Given the description of an element on the screen output the (x, y) to click on. 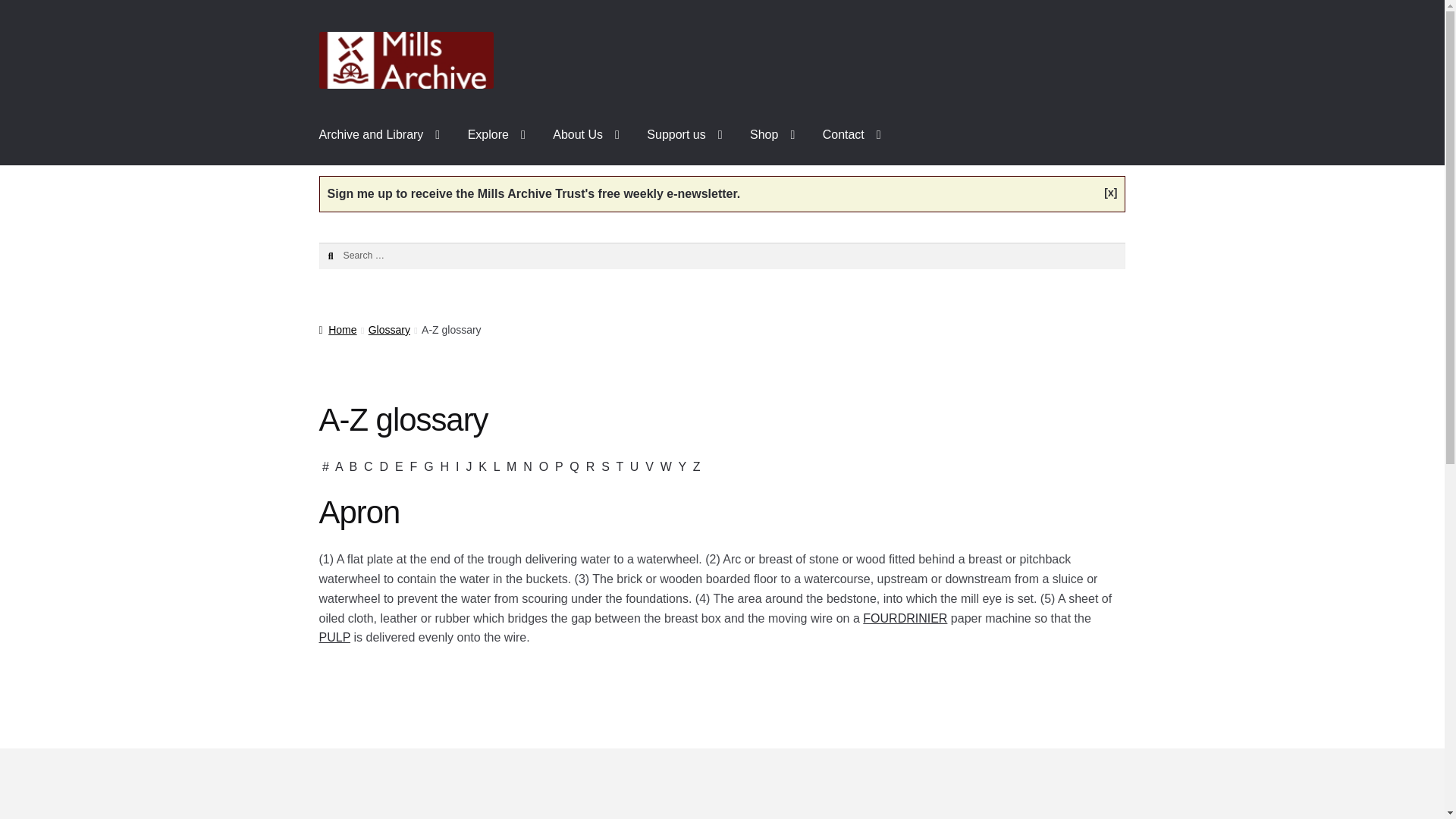
Archive and Library (379, 134)
Explore (496, 134)
